Given the description of an element on the screen output the (x, y) to click on. 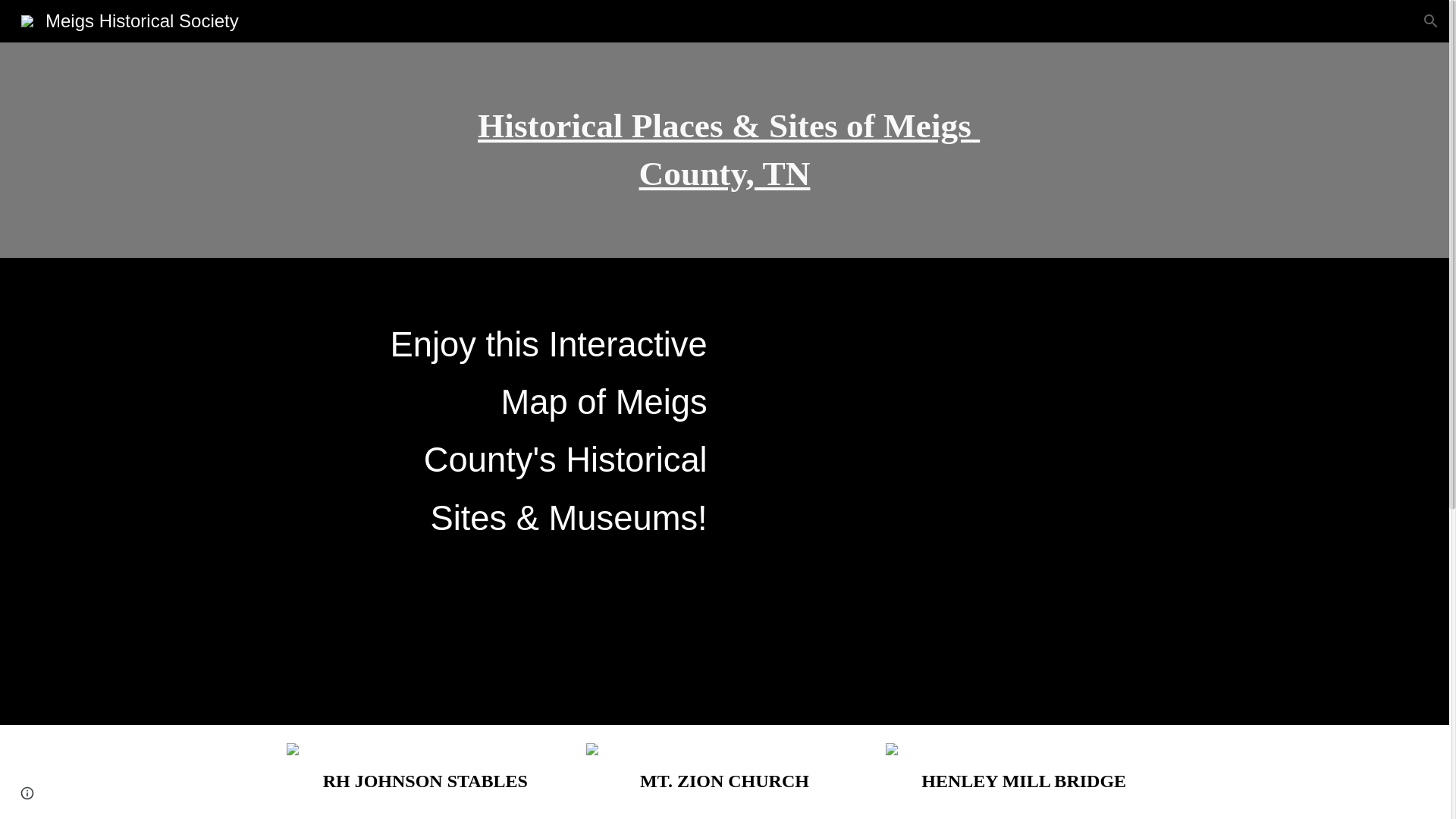
Historical Society (1356, 20)
Contact (1269, 20)
Historical Places (1115, 20)
Meigs Historical Society (129, 19)
Gift Shop (1025, 20)
Veterans (956, 20)
Home (840, 20)
Calendar (1203, 20)
History (893, 20)
